Given the description of an element on the screen output the (x, y) to click on. 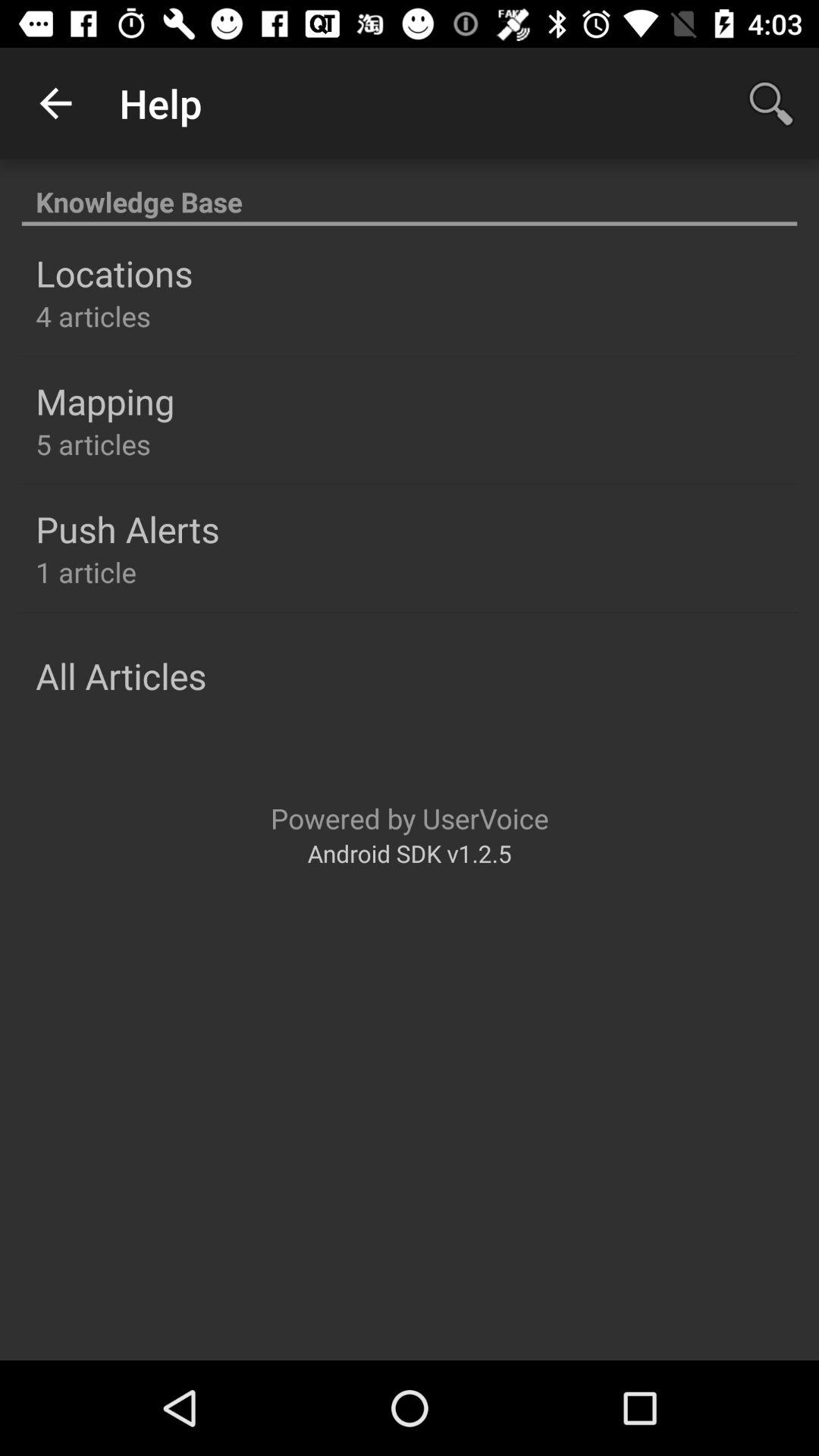
open the 1 article icon (85, 571)
